Given the description of an element on the screen output the (x, y) to click on. 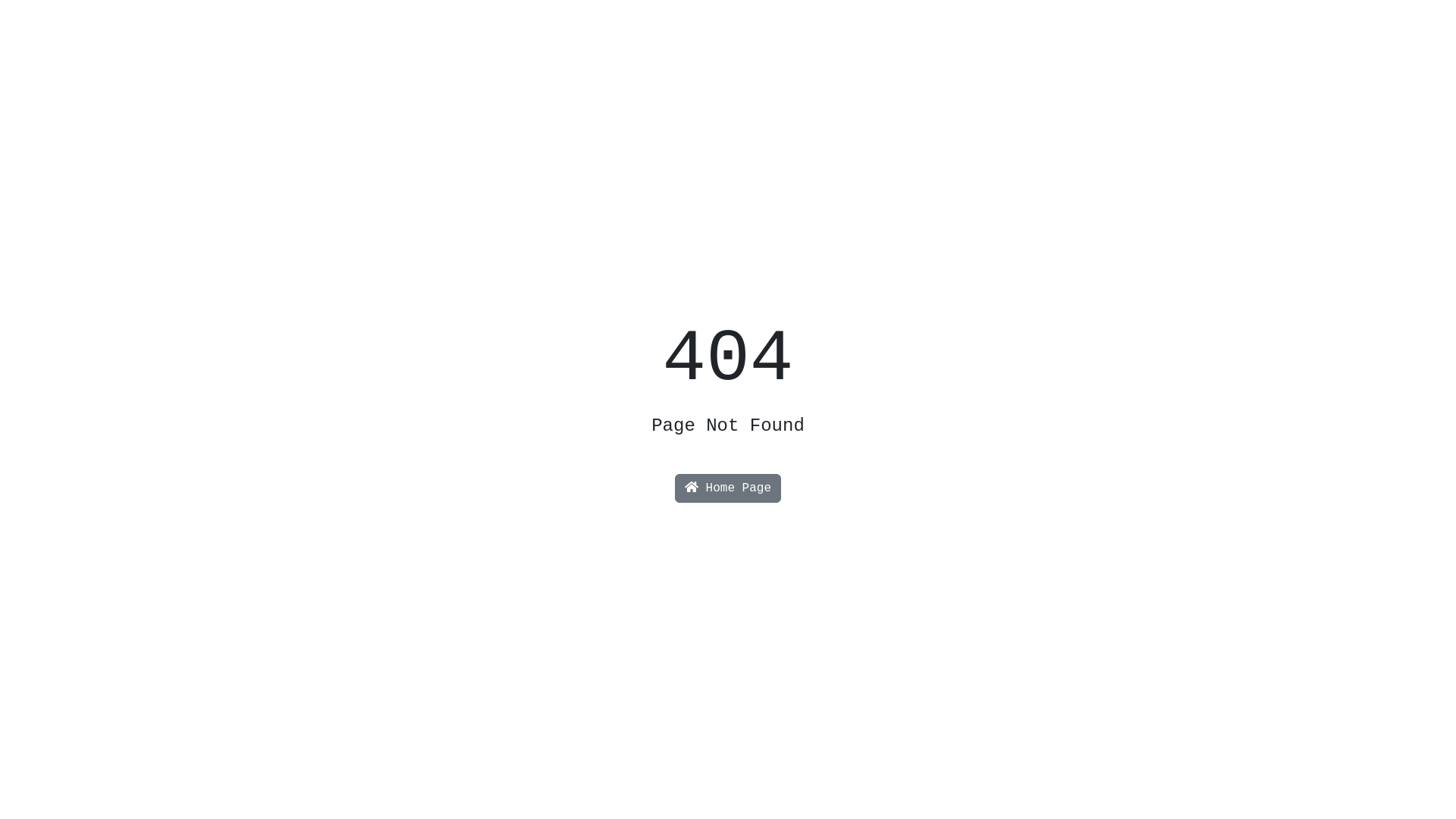
Home Page Element type: text (727, 487)
